Given the description of an element on the screen output the (x, y) to click on. 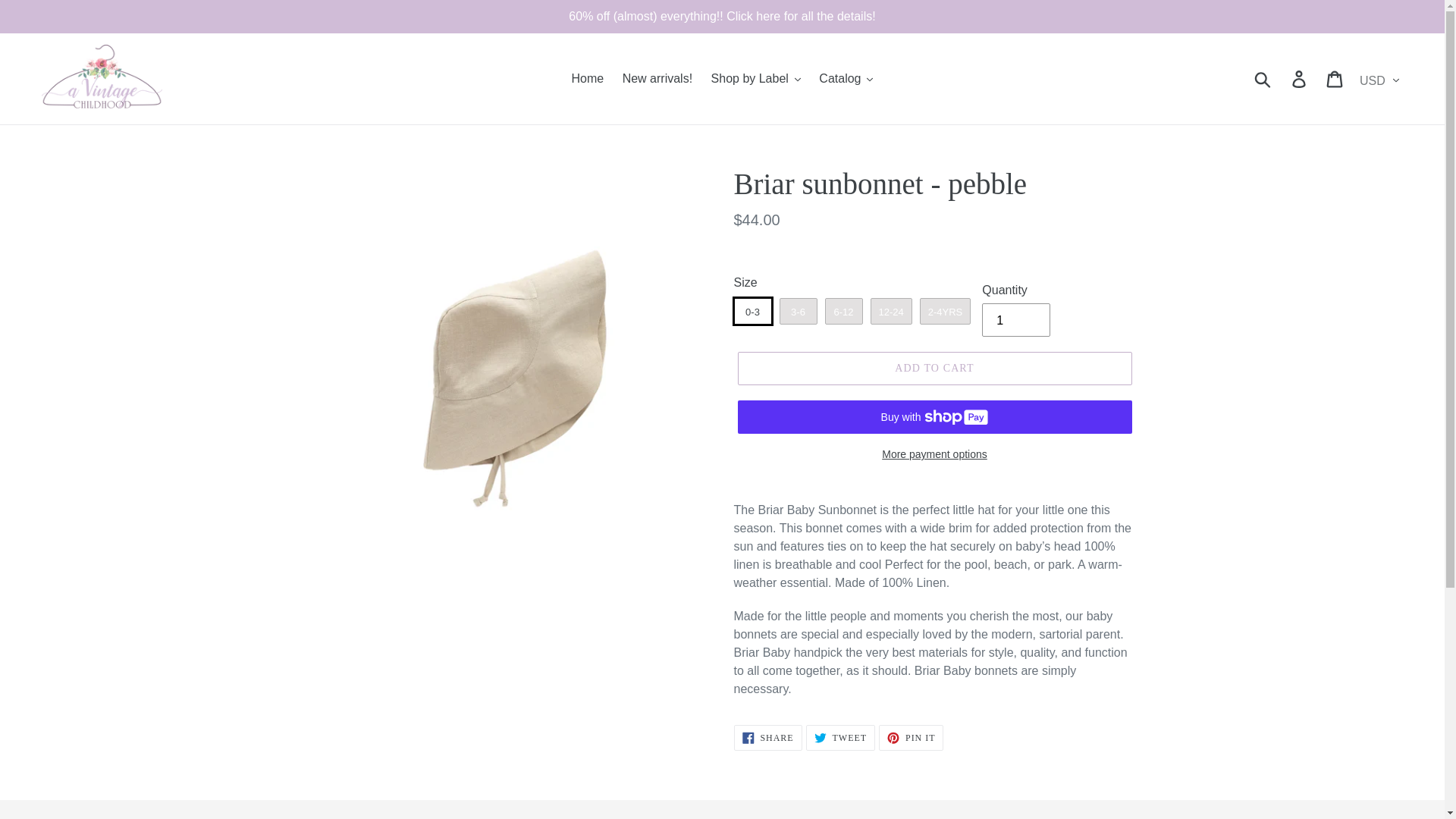
1 (1015, 319)
Home (587, 78)
New arrivals! (657, 78)
